Given the description of an element on the screen output the (x, y) to click on. 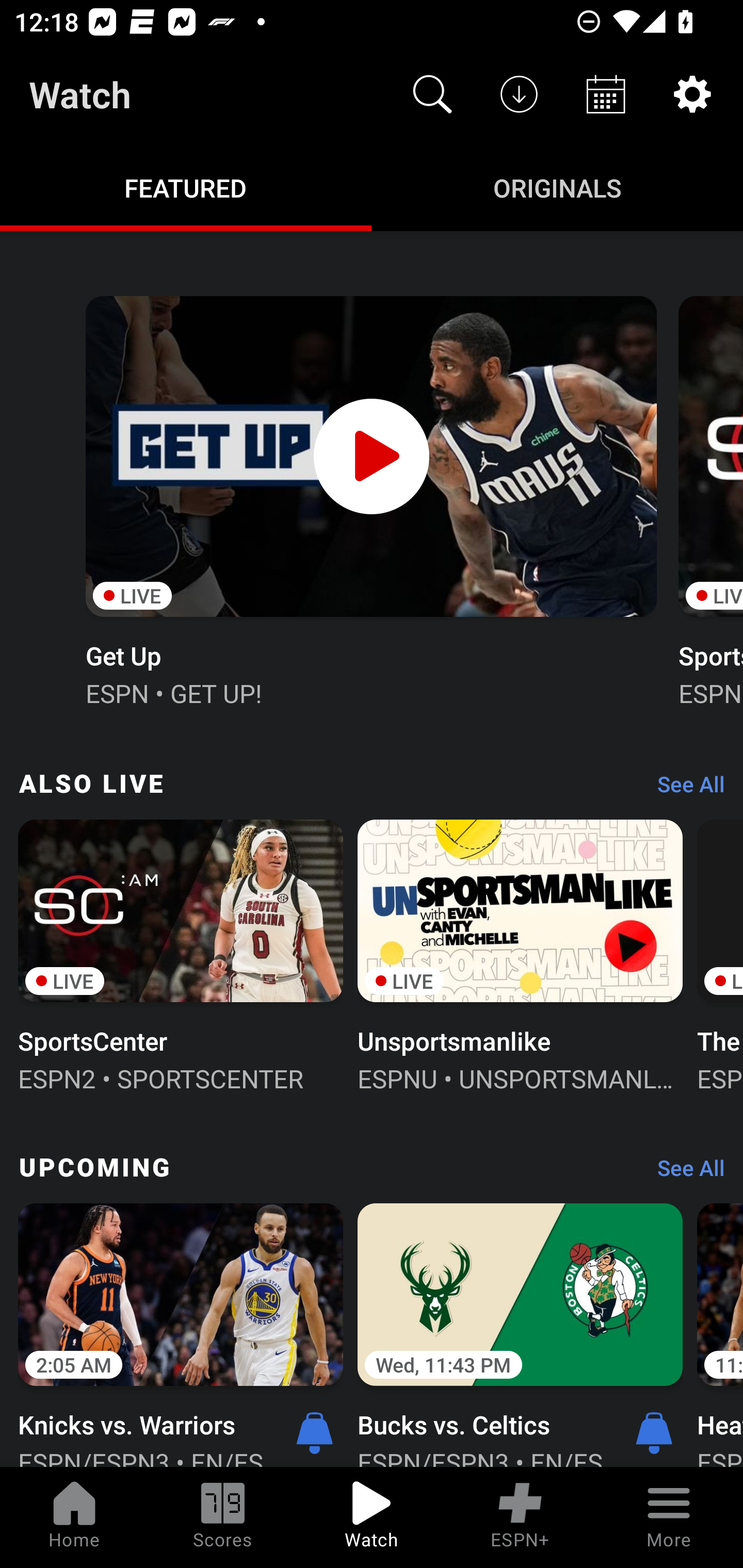
Search (432, 93)
Downloads (518, 93)
Schedule (605, 93)
Settings (692, 93)
Originals ORIGINALS (557, 187)
 LIVE Get Up ESPN • GET UP! (370, 499)
See All (683, 788)
LIVE SportsCenter ESPN2 • SPORTSCENTER (180, 954)
See All (683, 1172)
Home (74, 1517)
Scores (222, 1517)
ESPN+ (519, 1517)
More (668, 1517)
